Given the description of an element on the screen output the (x, y) to click on. 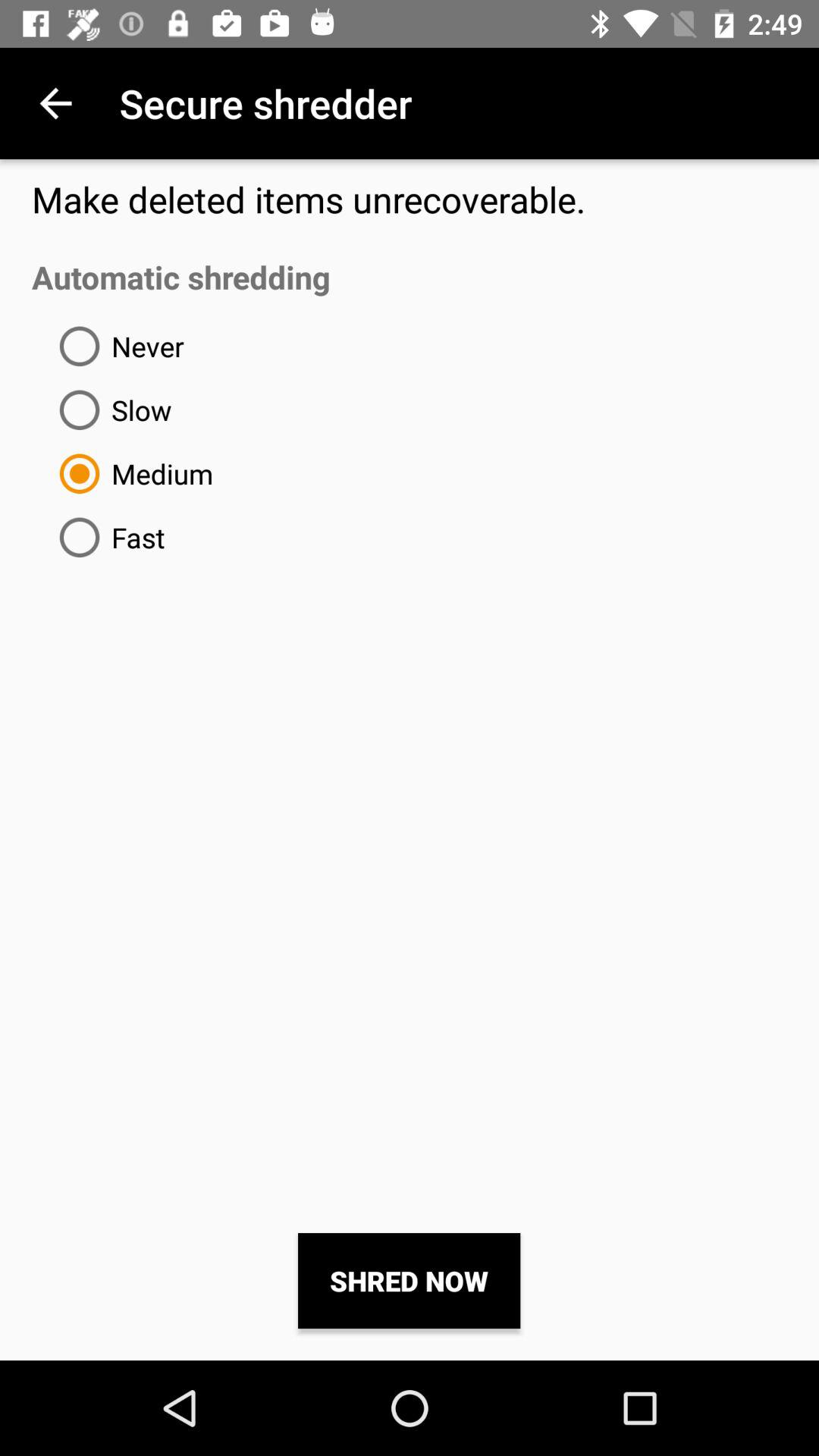
tap the item below the automatic shredding item (115, 346)
